Given the description of an element on the screen output the (x, y) to click on. 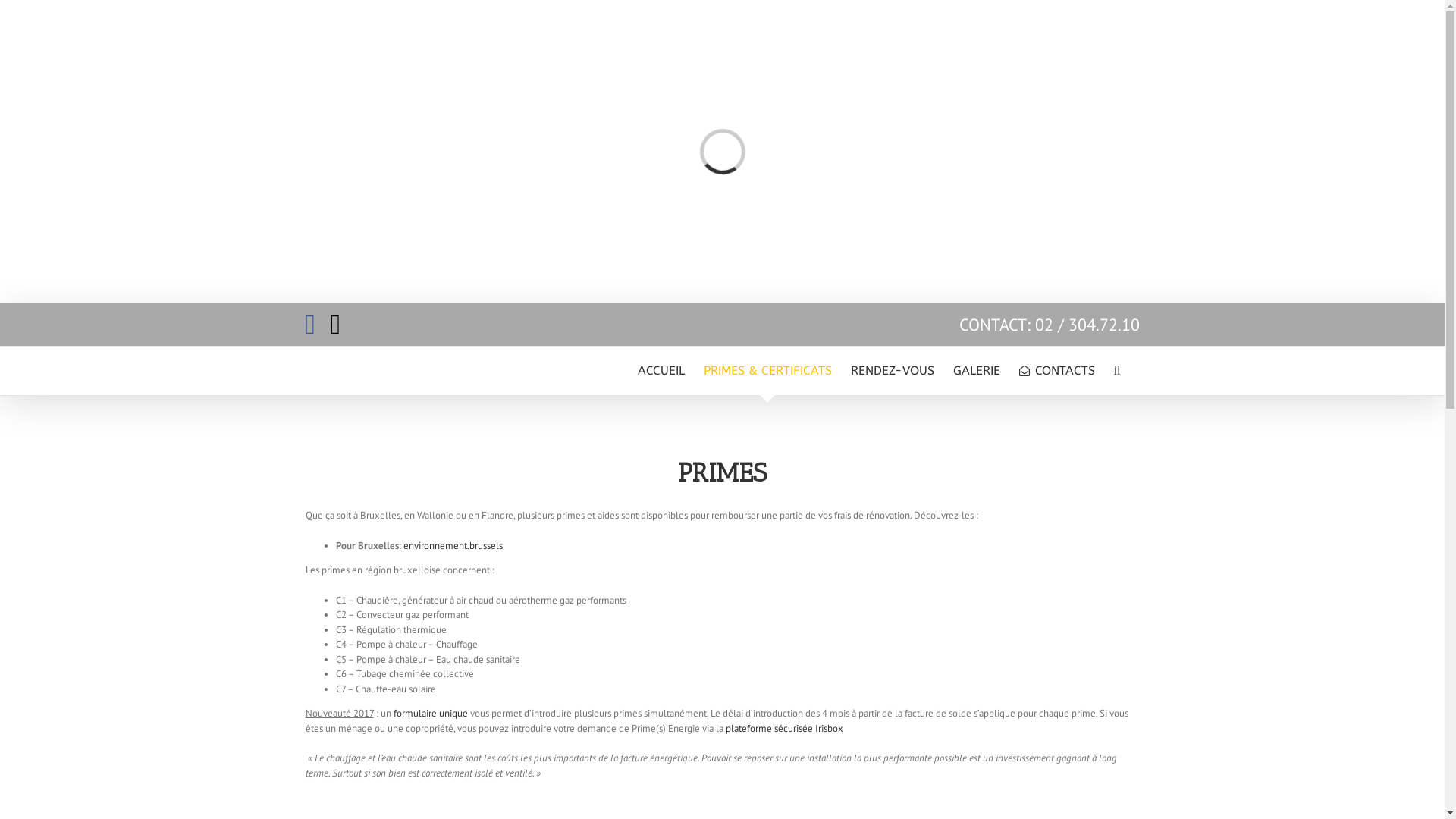
formulaire unique Element type: text (429, 712)
Email Element type: text (1137, 793)
PRIMES & CERTIFICATS Element type: text (767, 370)
Search Element type: hover (1116, 370)
GALERIE Element type: text (976, 370)
ACCUEIL Element type: text (660, 370)
RENDEZ-VOUS Element type: text (892, 370)
CONTACTS Element type: text (1057, 370)
Cosmonet sprl Element type: text (627, 792)
environnement.brussels Element type: text (452, 545)
Email Element type: text (335, 324)
Facebook Element type: text (309, 324)
Facebook Element type: text (1117, 793)
